Given the description of an element on the screen output the (x, y) to click on. 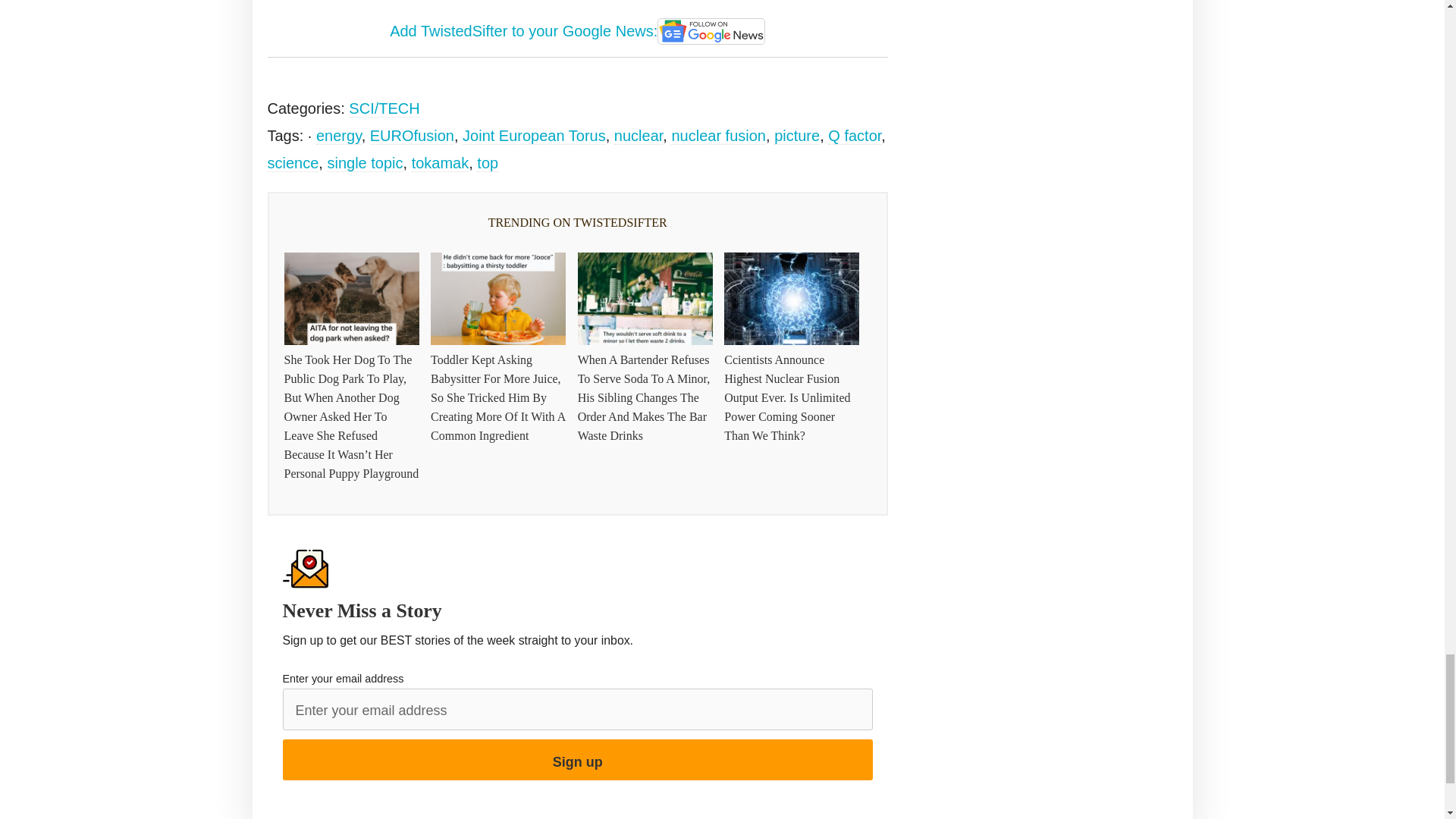
Sign up (577, 759)
Add TwistedSifter to your Google News: (577, 32)
energy (338, 135)
EUROfusion (411, 135)
Google News (711, 31)
